Given the description of an element on the screen output the (x, y) to click on. 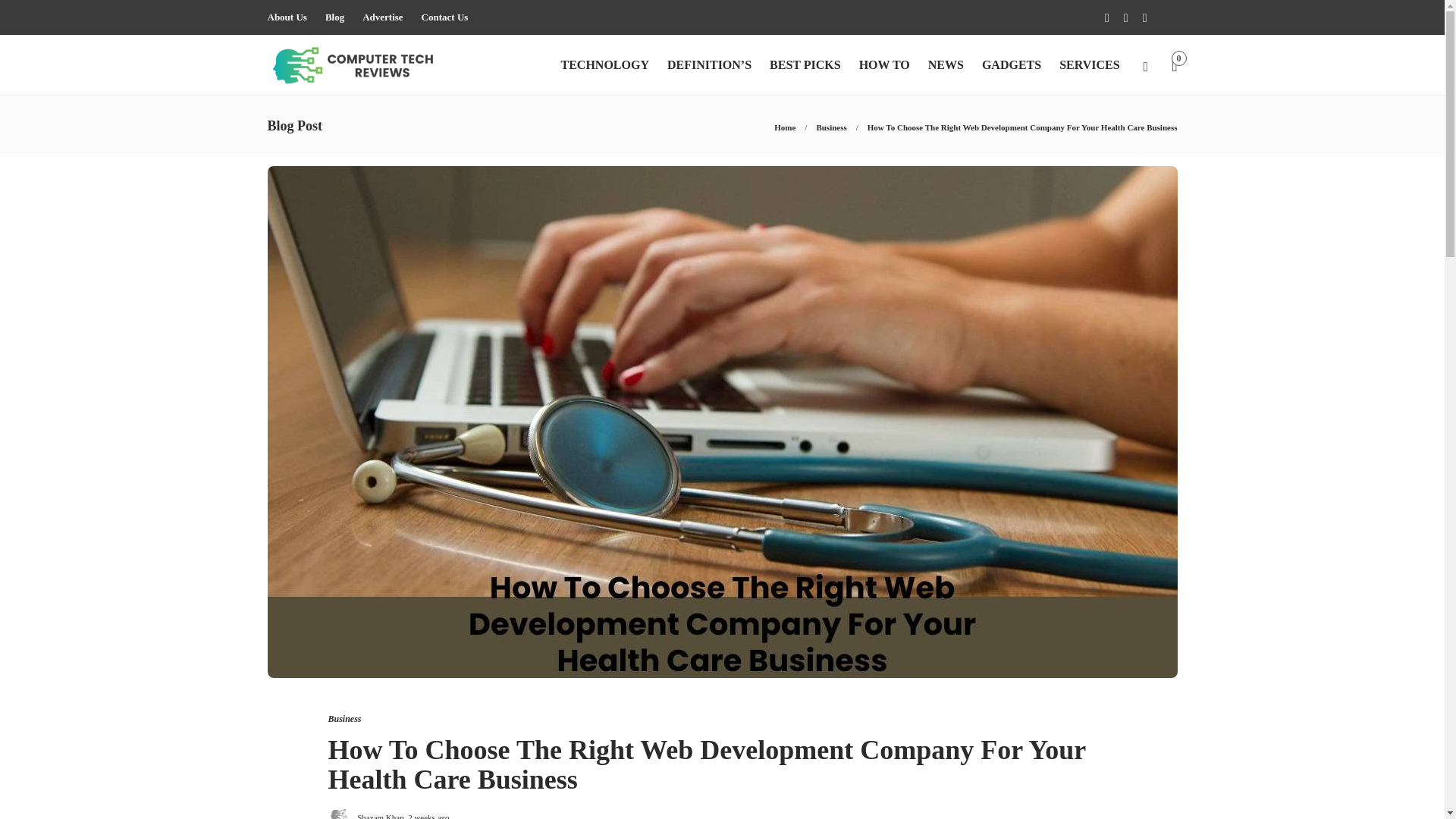
Contact Us (445, 17)
SERVICES (1089, 65)
Advertise (382, 17)
About Us (285, 17)
2 weeks ago (427, 815)
TECHNOLOGY (603, 65)
Home (784, 126)
Business (830, 126)
